Given the description of an element on the screen output the (x, y) to click on. 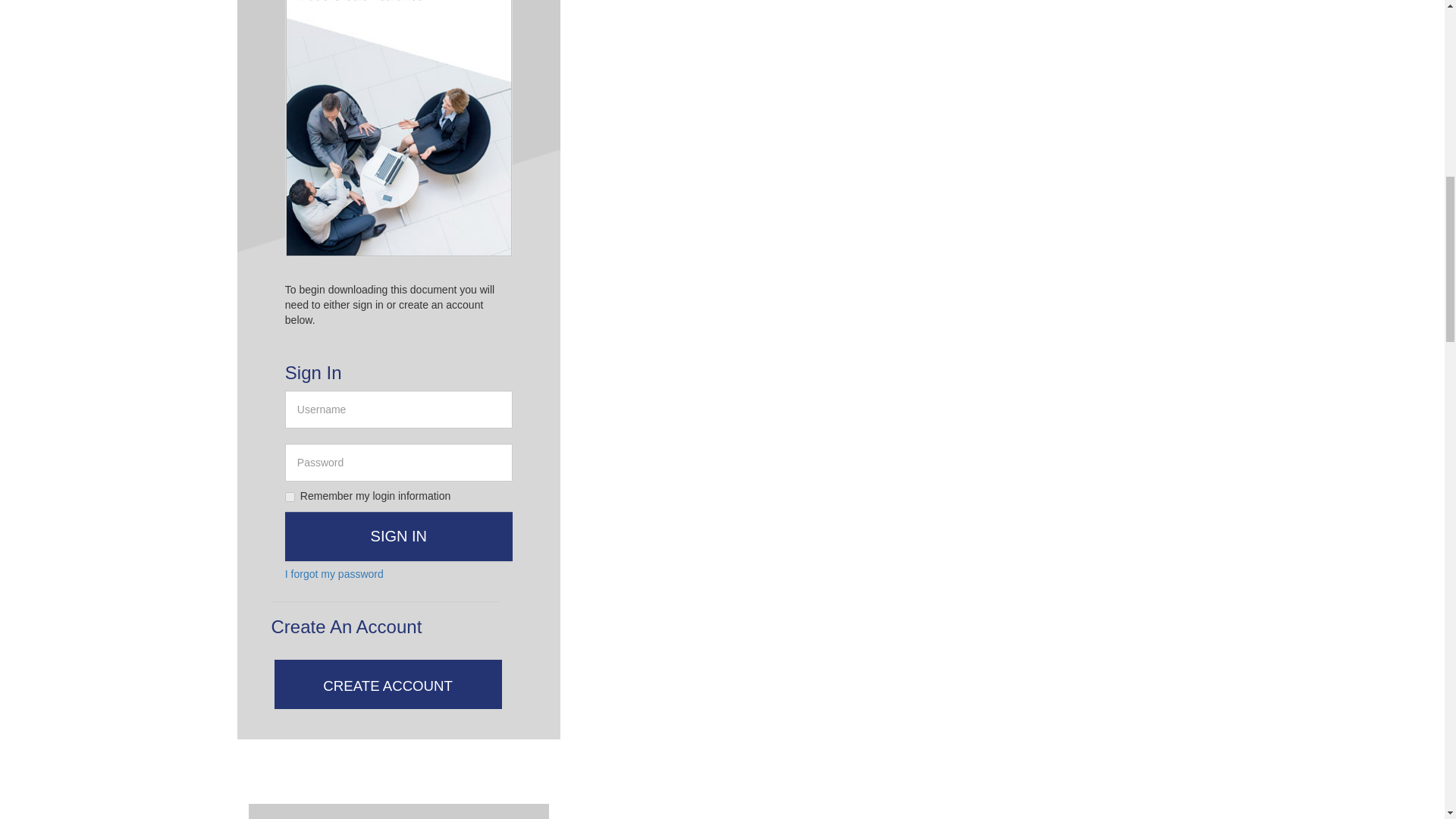
on (290, 497)
Sign in (398, 536)
Sign in (398, 536)
I forgot my password (334, 574)
CREATE ACCOUNT (410, 684)
